Given the description of an element on the screen output the (x, y) to click on. 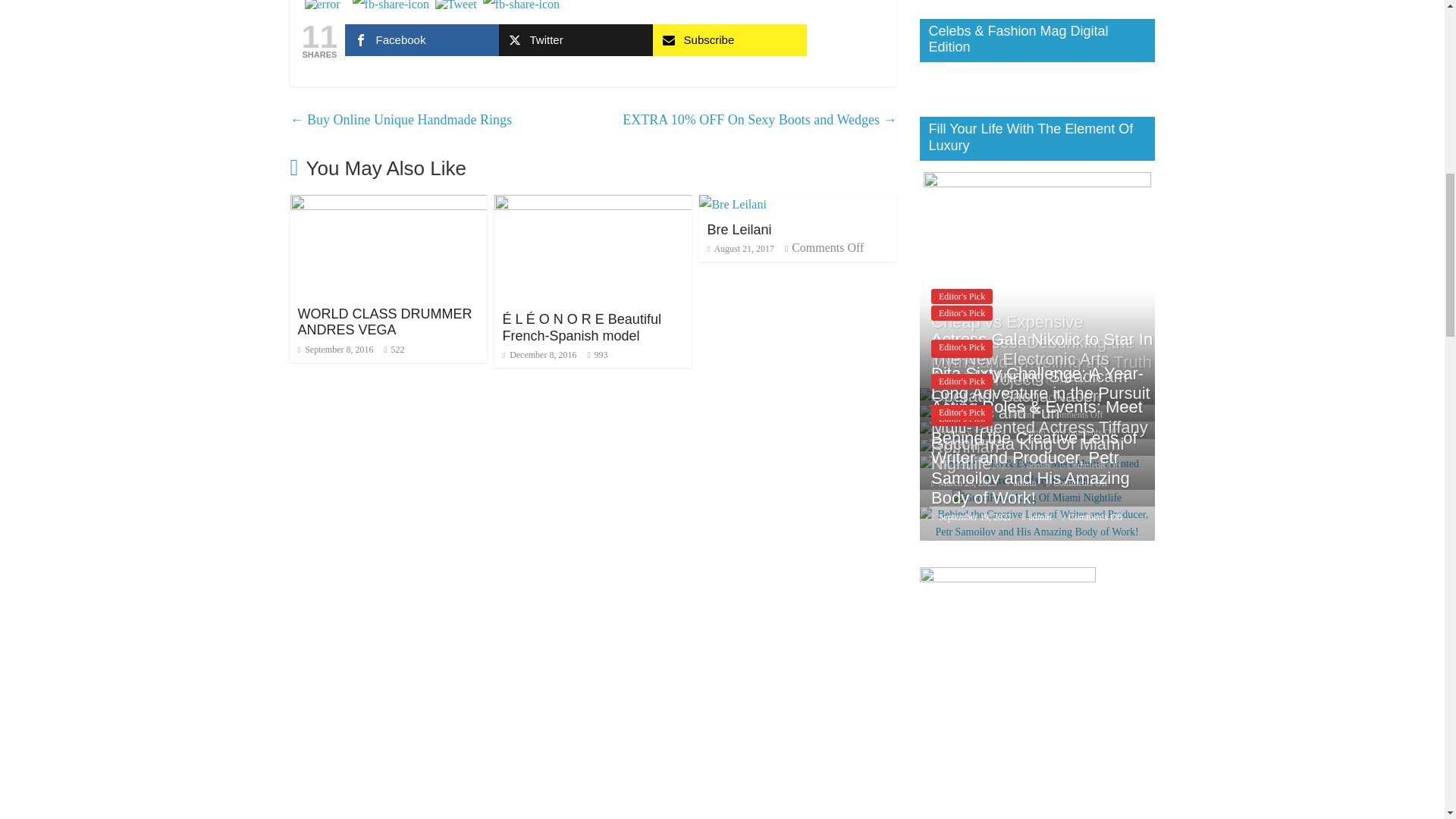
Tweet (456, 6)
WORLD CLASS DRUMMER ANDRES VEGA (387, 204)
Pin Share (521, 8)
WORLD CLASS DRUMMER ANDRES VEGA (384, 322)
Facebook Share (390, 8)
